Given the description of an element on the screen output the (x, y) to click on. 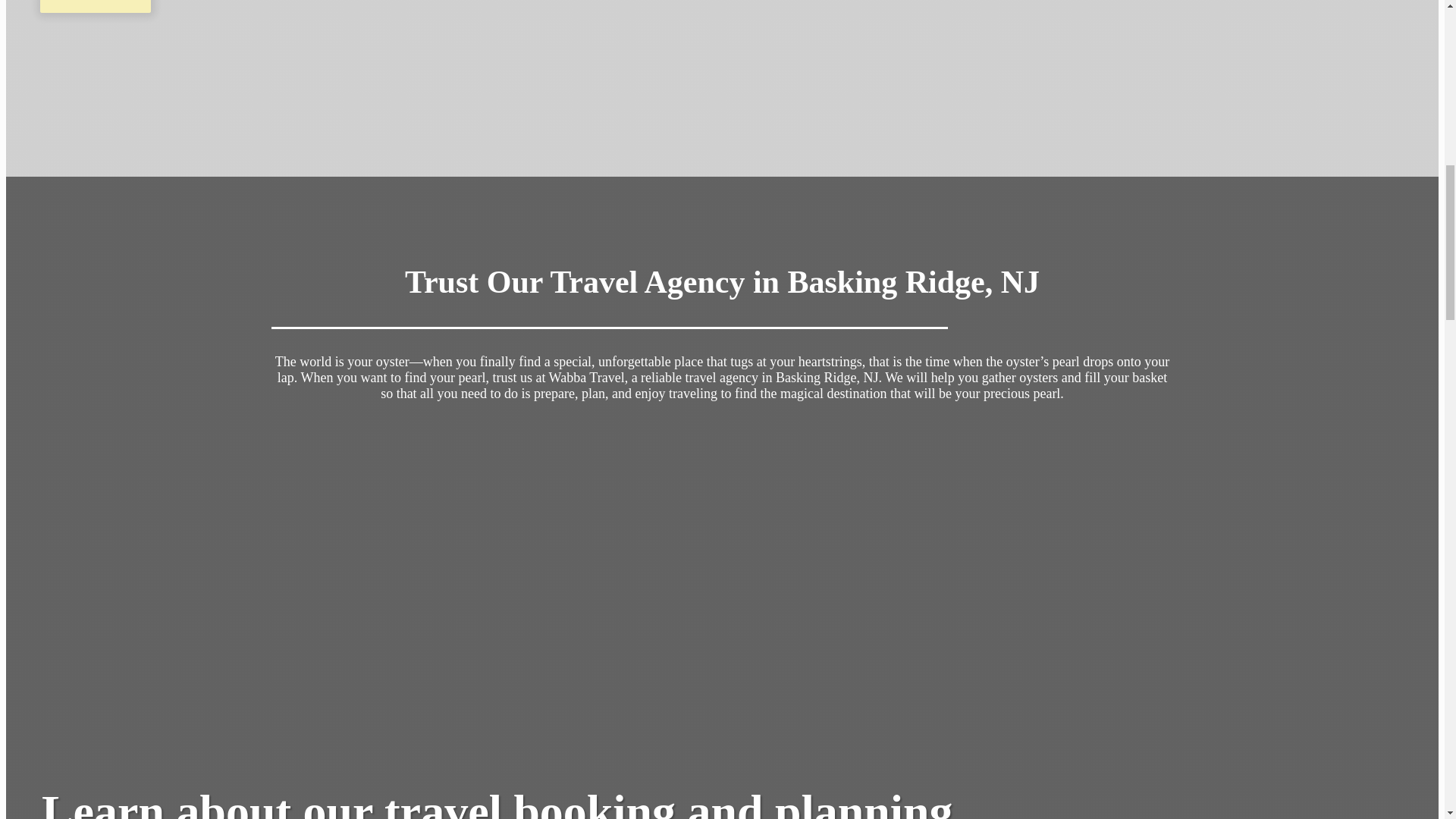
Learn More (95, 6)
